Given the description of an element on the screen output the (x, y) to click on. 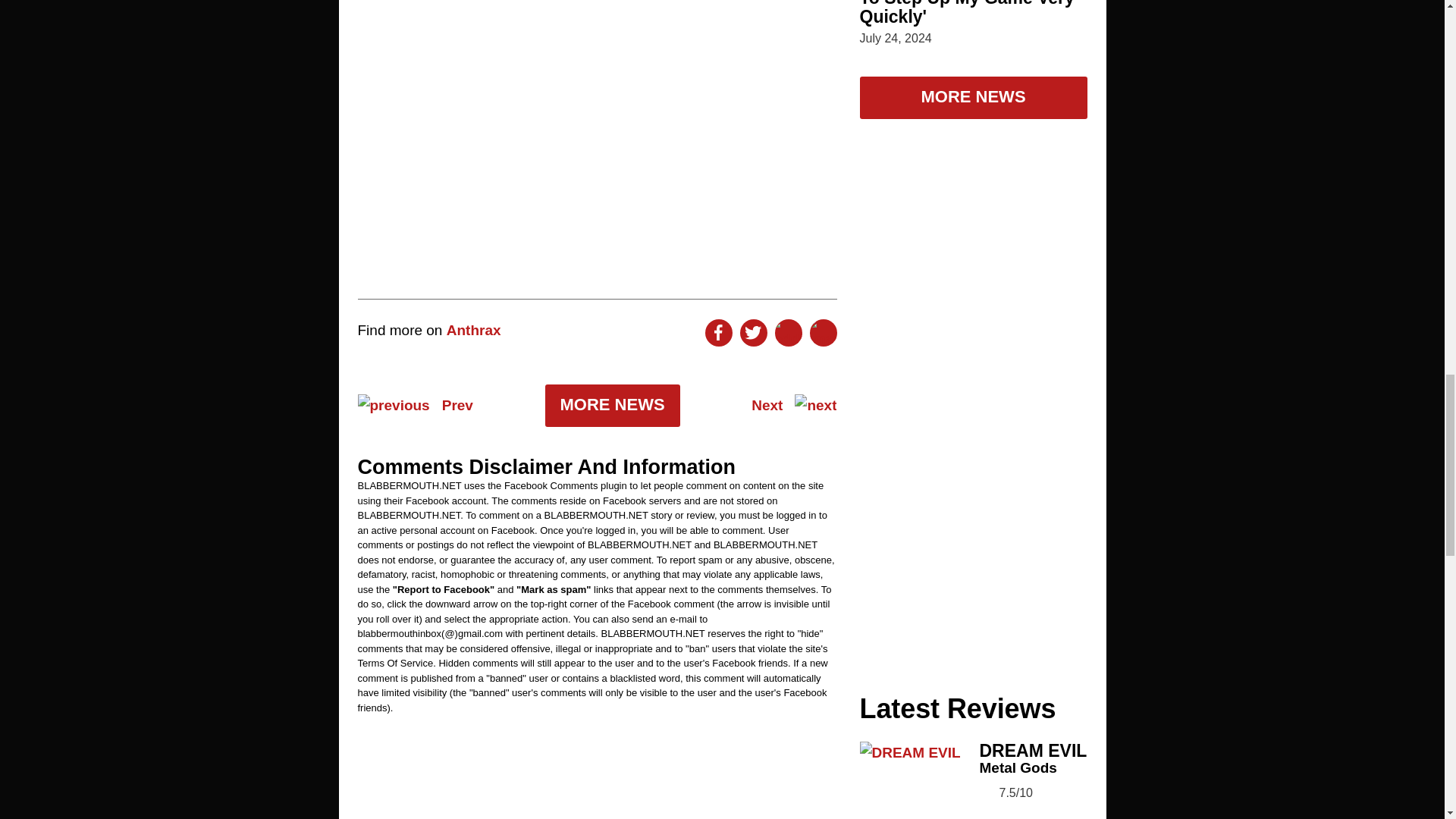
Share On Twitter (753, 332)
Next (793, 404)
Prev (415, 404)
Anthrax (473, 330)
Share On Facebook (718, 332)
MORE NEWS (611, 405)
Copy To Clipboard (823, 332)
Share On Reddit (788, 332)
